Given the description of an element on the screen output the (x, y) to click on. 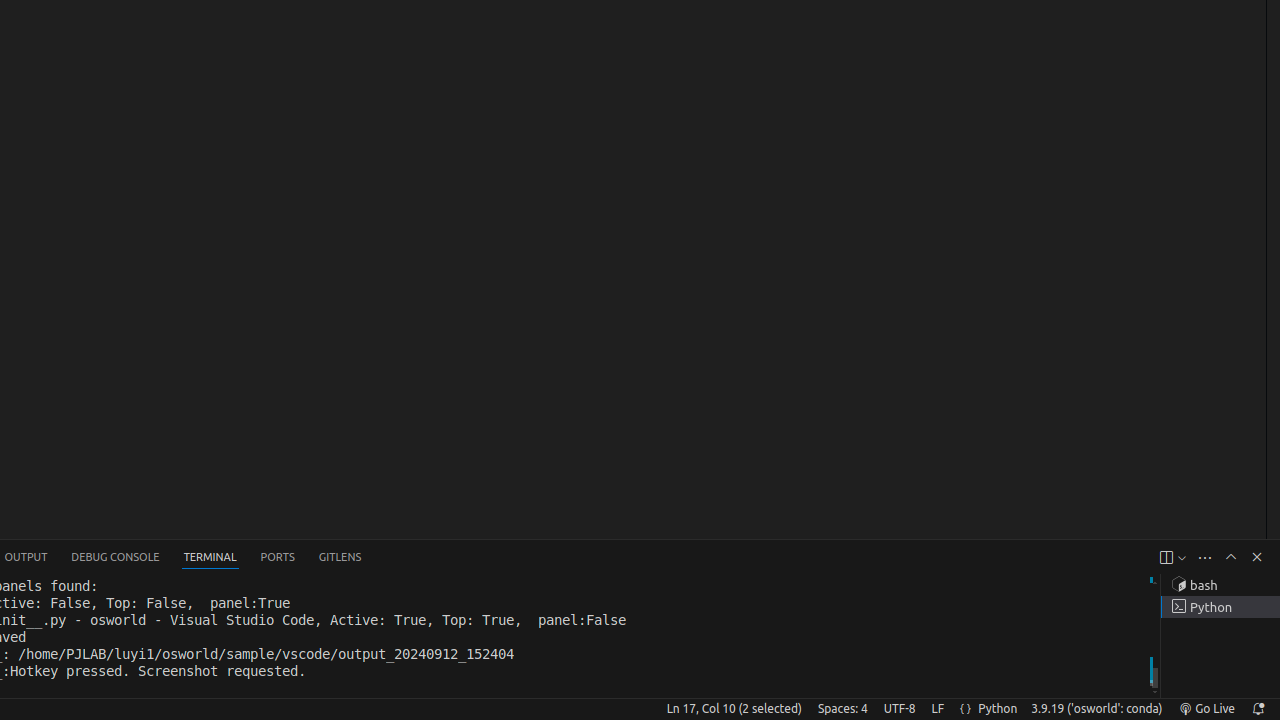
3.9.19 ('osworld': conda), ~/anaconda3/envs/osworld/bin/python Element type: push-button (1097, 709)
Terminal 1 bash Element type: list-item (1220, 585)
LF Element type: push-button (938, 709)
Launch Profile... Element type: push-button (1182, 557)
Split Terminal (Ctrl+Shift+5) Element type: push-button (1166, 557)
